Given the description of an element on the screen output the (x, y) to click on. 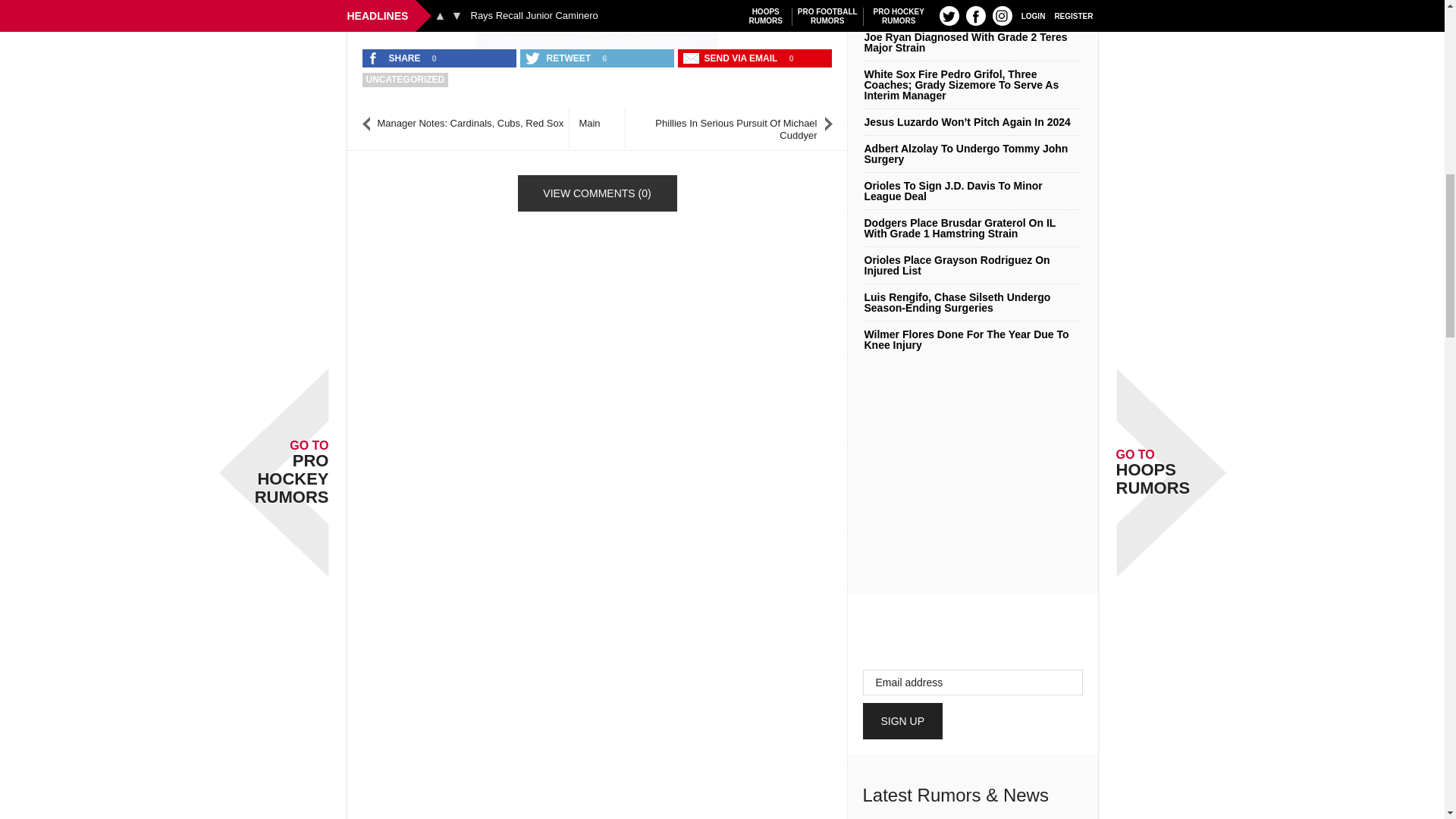
Sign Up (903, 720)
Send How To Leave A Comment On MLBTR with an email (732, 58)
Share 'How To Leave A Comment On MLBTR' on Facebook (395, 58)
3rd party ad content (597, 20)
Retweet 'How To Leave A Comment On MLBTR' on Twitter (558, 58)
